Given the description of an element on the screen output the (x, y) to click on. 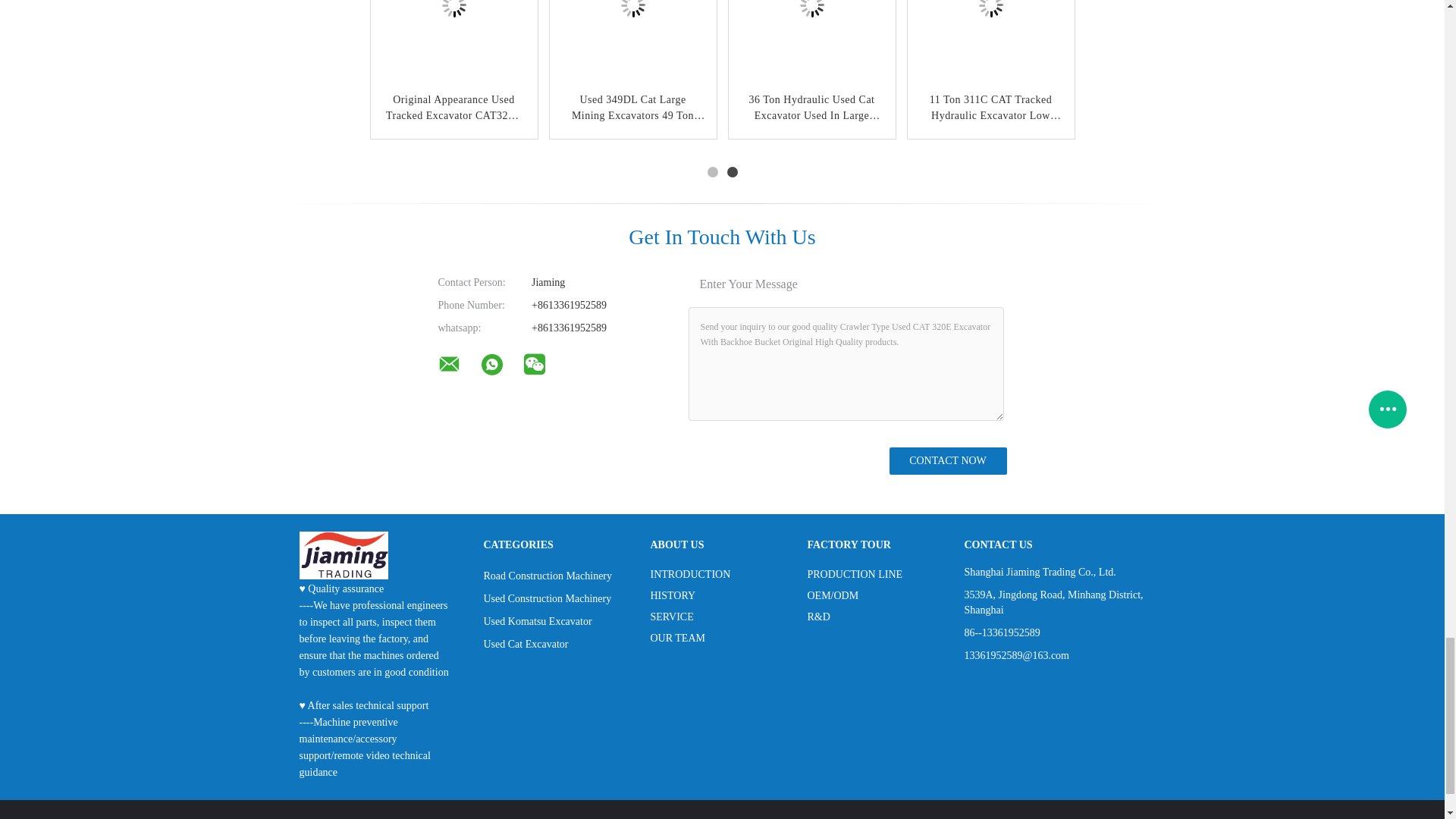
Contact Now (947, 461)
